Given the description of an element on the screen output the (x, y) to click on. 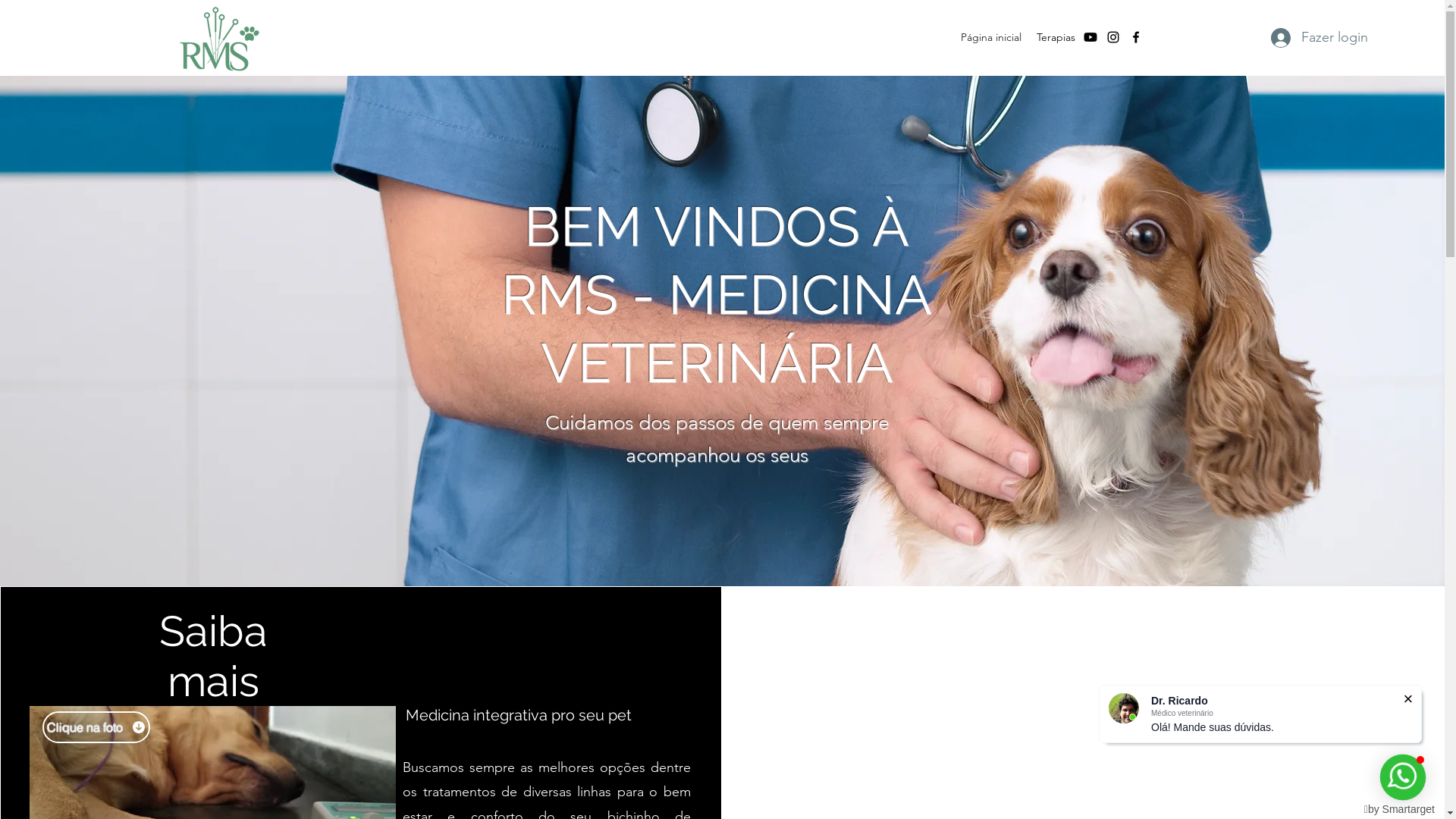
Terapias Element type: text (1055, 36)
Fazer login Element type: text (1319, 37)
Clique na foto Element type: text (96, 727)
